Given the description of an element on the screen output the (x, y) to click on. 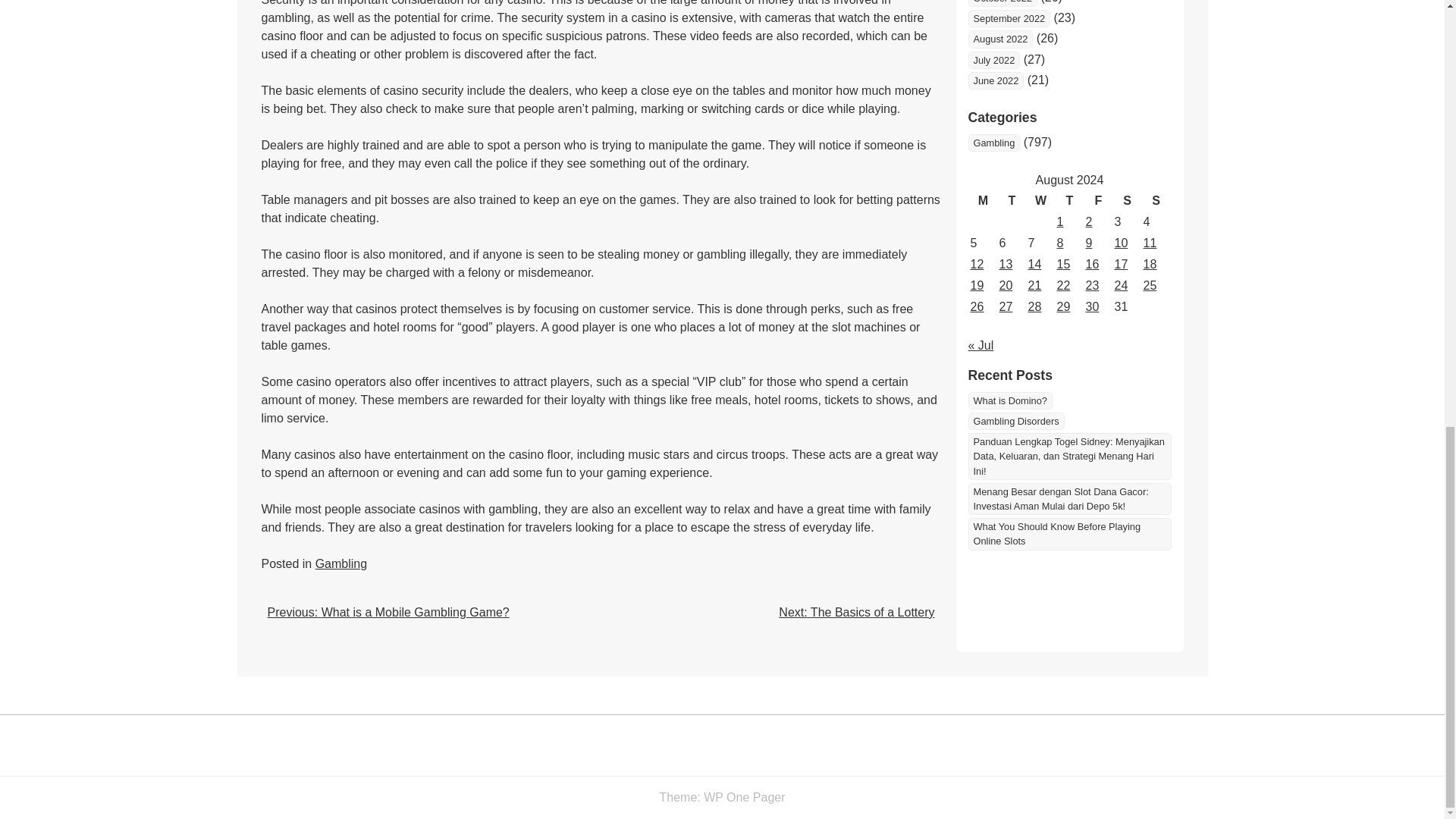
September 2022 (1008, 18)
Gambling (994, 142)
Thursday (1069, 200)
Tuesday (1011, 200)
June 2022 (995, 80)
July 2022 (994, 59)
Wednesday (1040, 200)
Gambling (340, 563)
Sunday (1155, 200)
October 2022 (1002, 3)
